Given the description of an element on the screen output the (x, y) to click on. 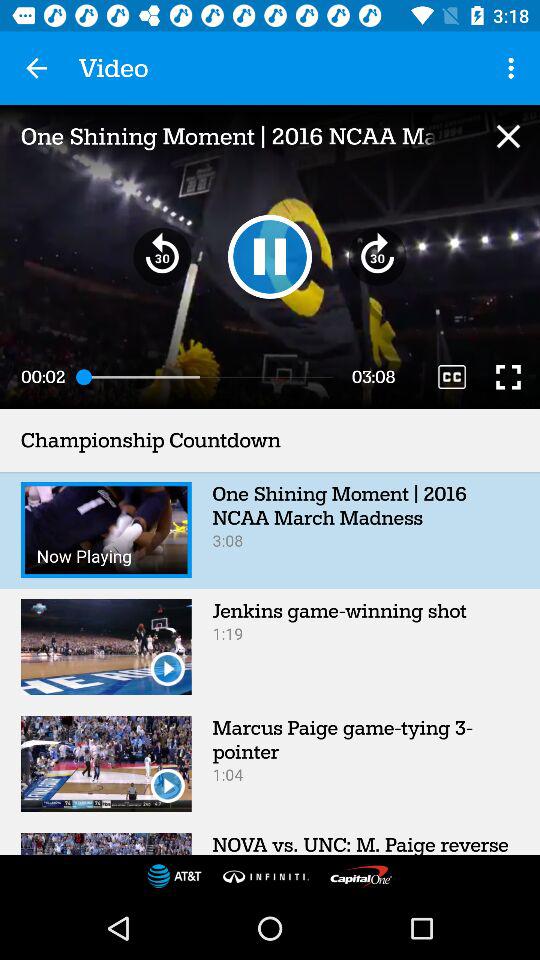
turn off the icon next to one shining moment icon (508, 136)
